Given the description of an element on the screen output the (x, y) to click on. 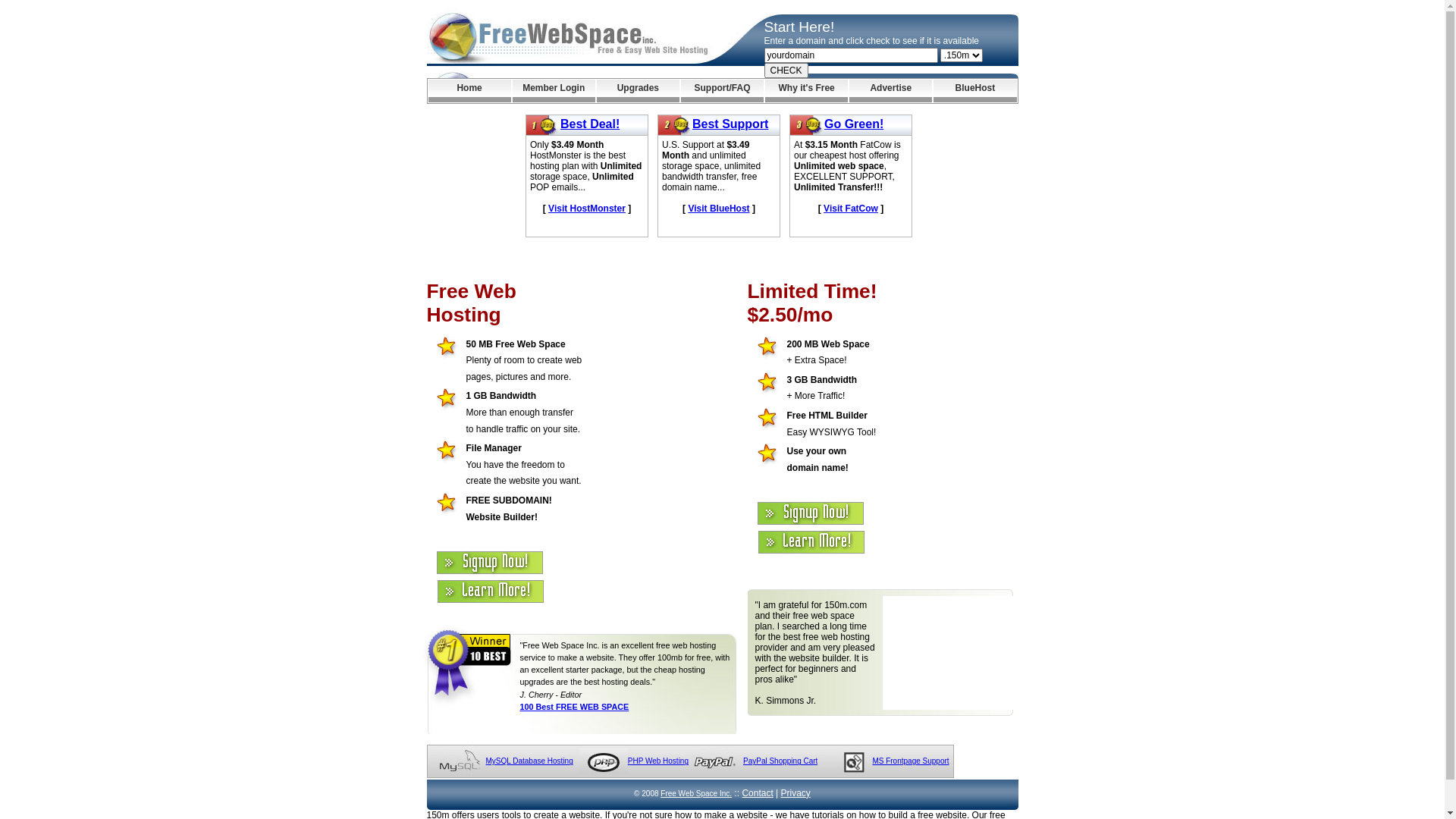
Home Element type: text (468, 90)
CHECK Element type: text (786, 70)
100 Best FREE WEB SPACE Element type: text (574, 706)
Why it's Free Element type: text (806, 90)
PHP Web Hosting Element type: text (657, 760)
Contact Element type: text (756, 792)
Free Web Space Inc. Element type: text (695, 793)
Advertise Element type: text (890, 90)
Member Login Element type: text (553, 90)
Support/FAQ Element type: text (721, 90)
MS Frontpage Support Element type: text (910, 760)
Privacy Element type: text (795, 792)
Upgrades Element type: text (637, 90)
MySQL Database Hosting Element type: text (528, 760)
PayPal Shopping Cart Element type: text (780, 760)
BlueHost Element type: text (974, 90)
